Given the description of an element on the screen output the (x, y) to click on. 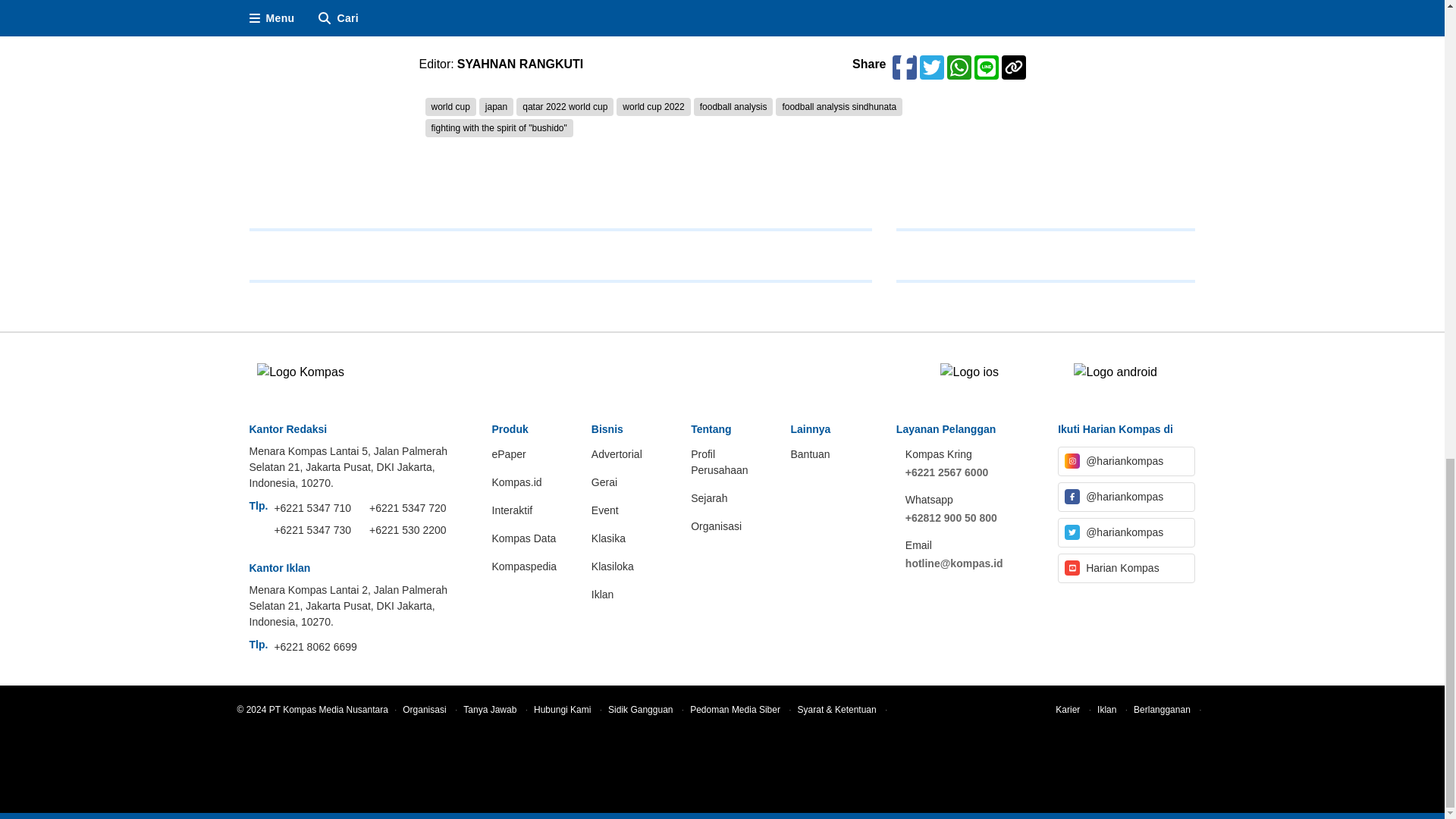
fighting with the spirit of "bushido" (498, 127)
Kompas.id (532, 488)
Event (631, 516)
Klasiloka (631, 572)
Interaktif (532, 516)
Kompaspedia (532, 572)
foodball analysis sindhunata (839, 106)
world cup (450, 106)
Advertorial (631, 460)
foodball analysis (733, 106)
